Given the description of an element on the screen output the (x, y) to click on. 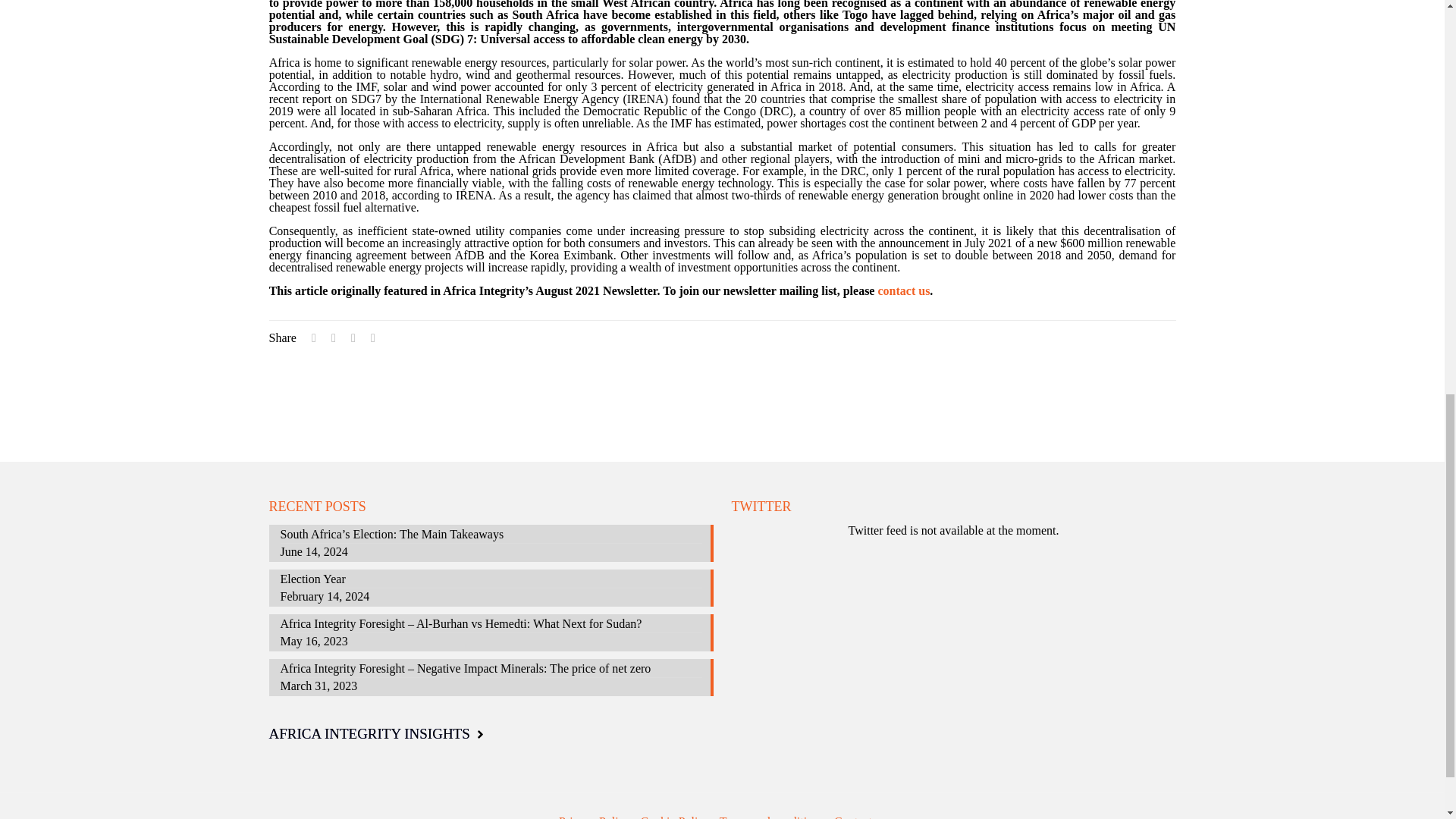
Election Year (491, 580)
contact us (903, 290)
